Given the description of an element on the screen output the (x, y) to click on. 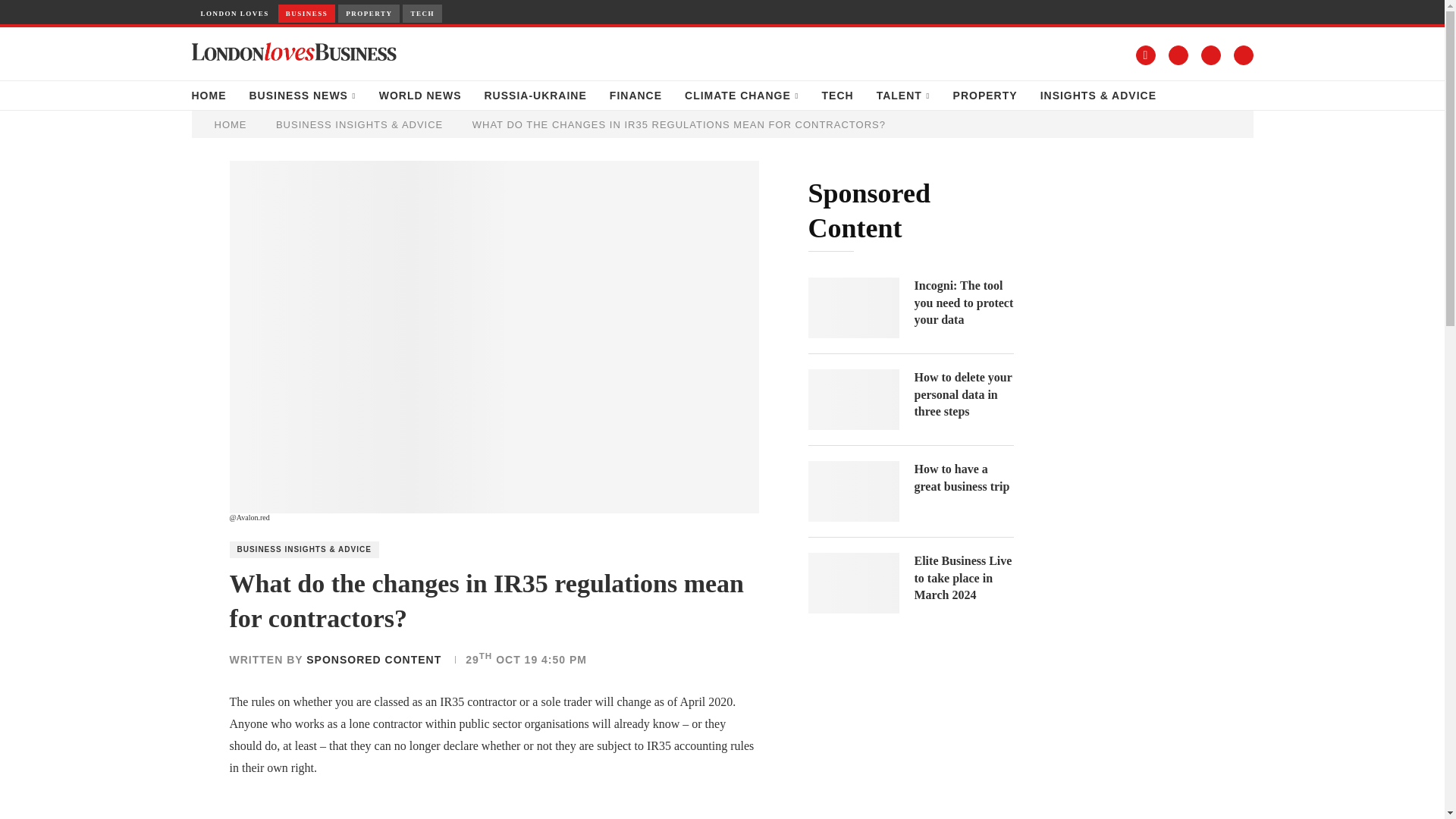
Incogni: The tool you need to protect your data (853, 307)
Incogni: The tool you need to protect your data (963, 302)
How to have a great business trip (853, 491)
How to delete your personal data in three steps (853, 399)
How to delete your personal data in three steps (963, 394)
How to have a great business trip (963, 478)
